Given the description of an element on the screen output the (x, y) to click on. 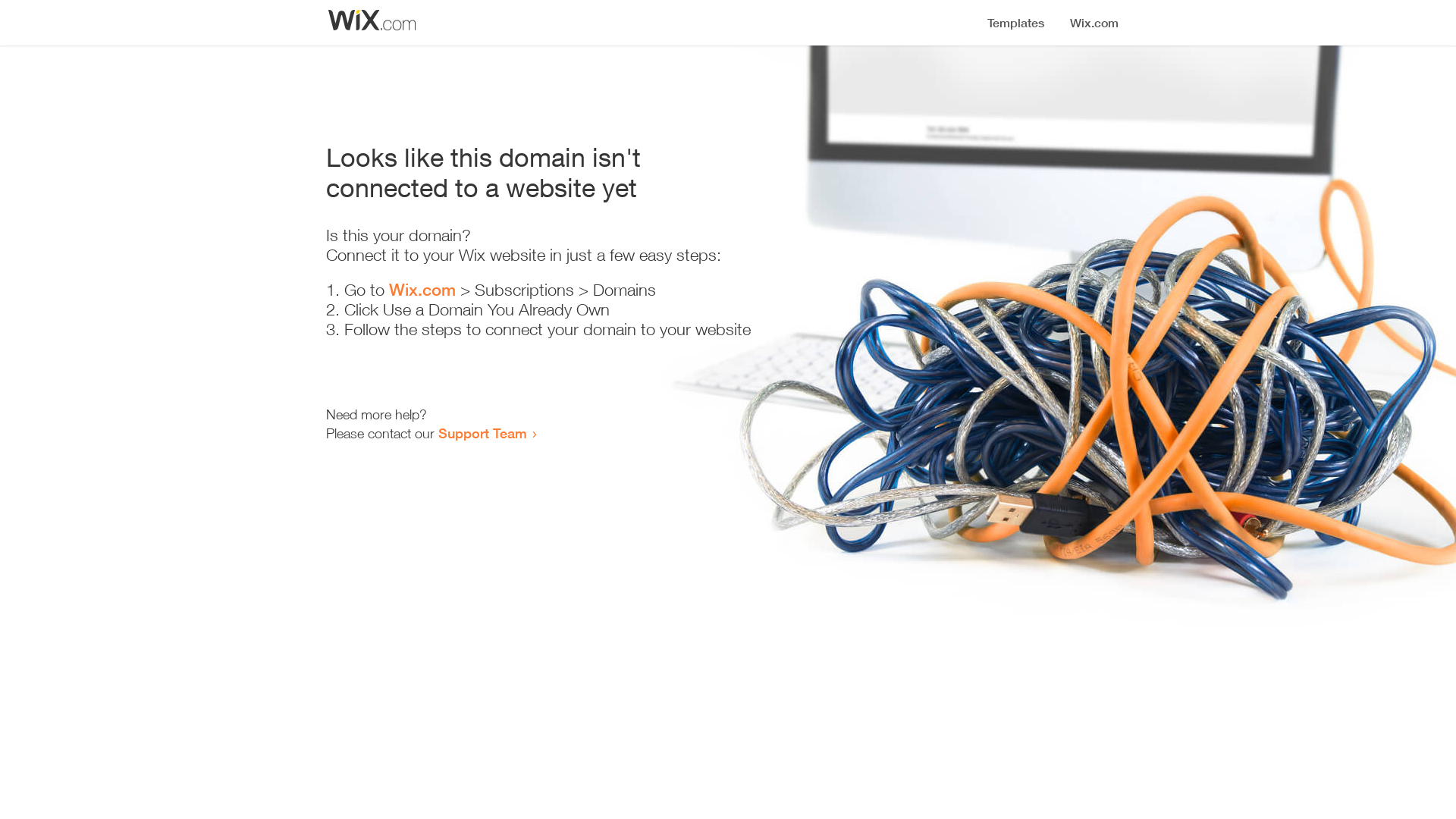
Wix.com Element type: text (422, 289)
Support Team Element type: text (482, 432)
